Given the description of an element on the screen output the (x, y) to click on. 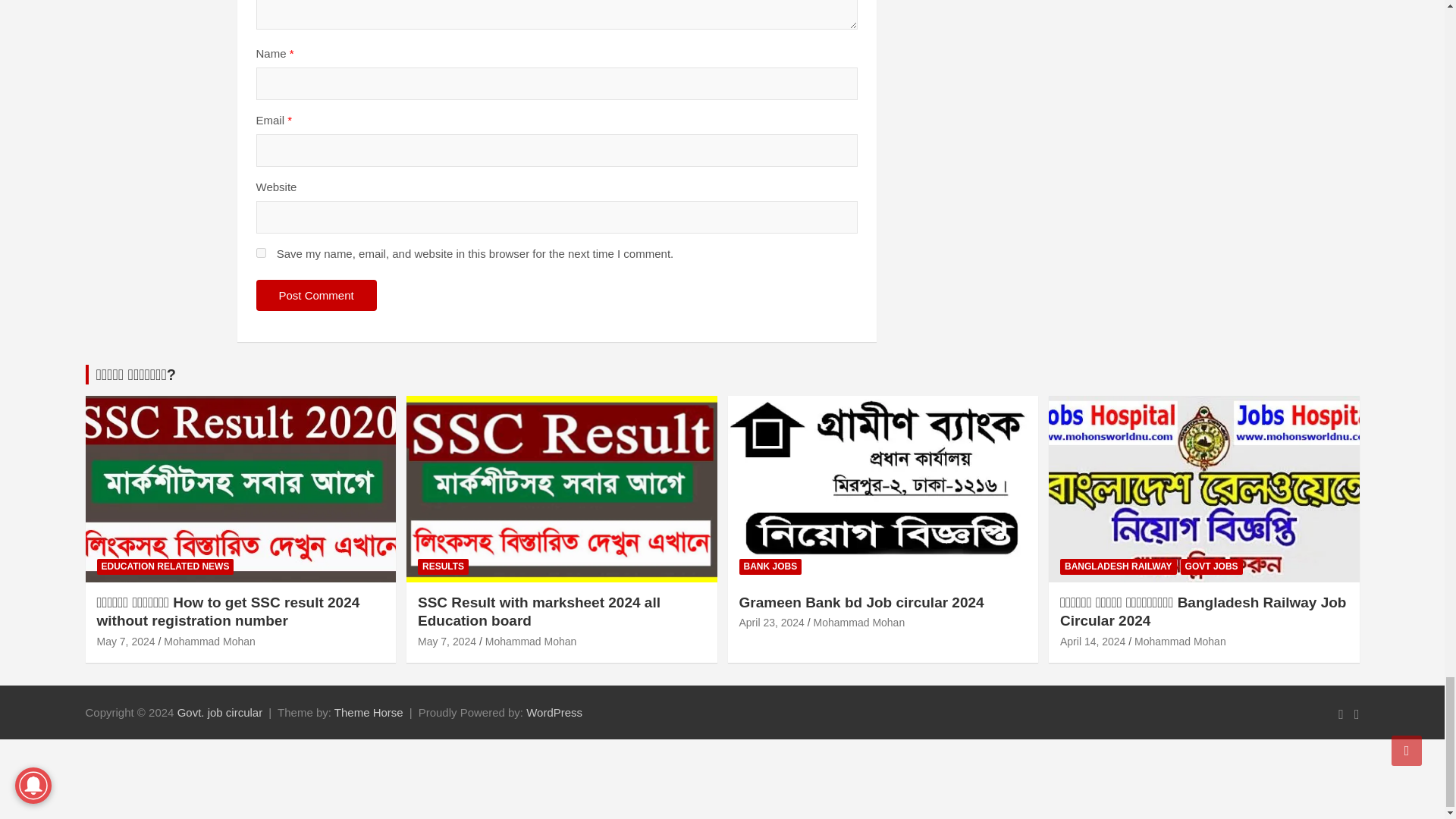
SSC Result with marksheet 2024 all Education board (446, 641)
Grameen Bank bd Job circular 2024 (770, 622)
Post Comment (316, 295)
Govt. job circular (220, 712)
Theme Horse (368, 712)
yes (261, 252)
